Given the description of an element on the screen output the (x, y) to click on. 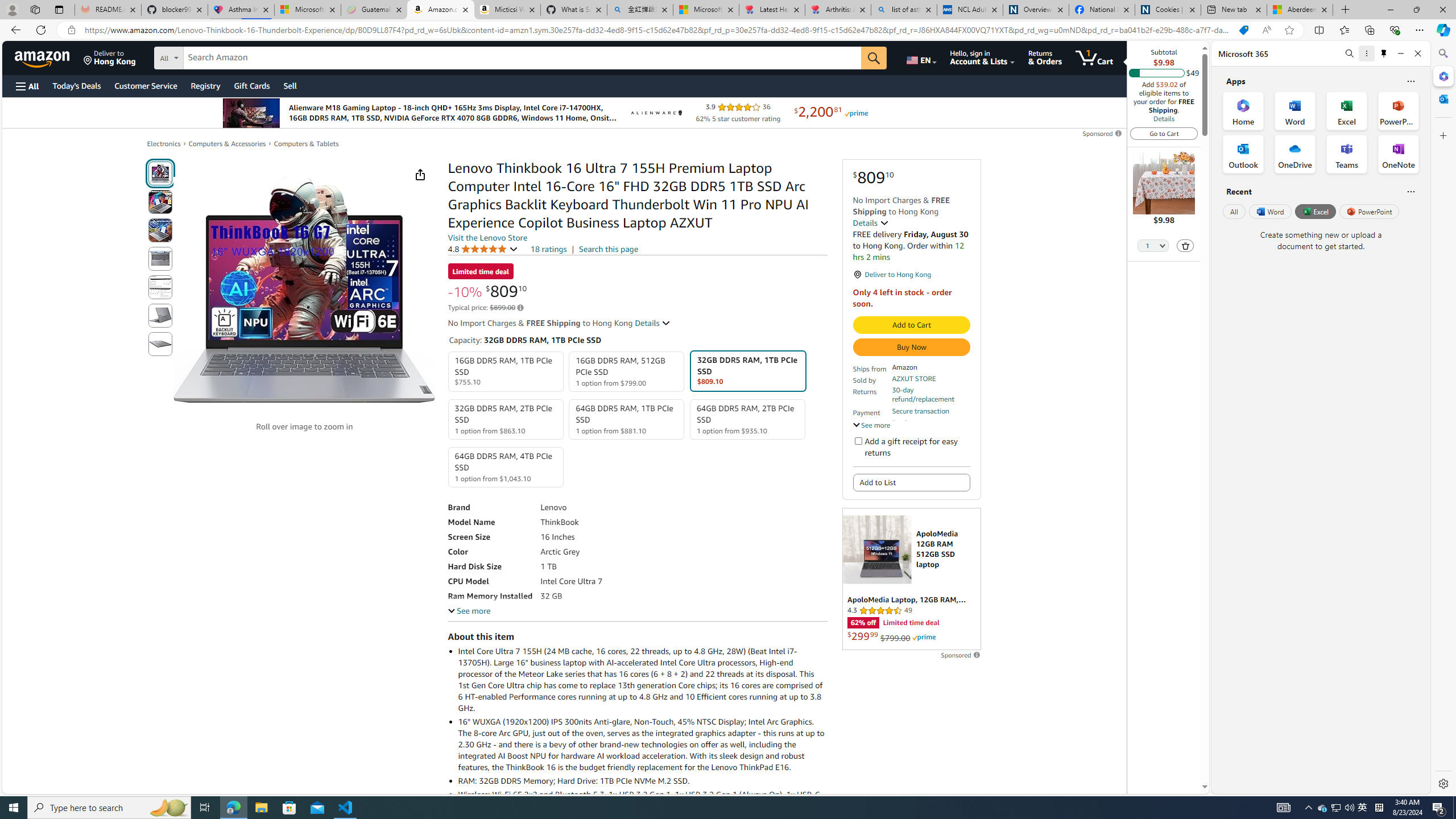
Logo (655, 112)
Delete (1184, 245)
Customer Service (145, 85)
Go to Cart (1163, 133)
Home Office App (1243, 110)
Word (1269, 210)
